Given the description of an element on the screen output the (x, y) to click on. 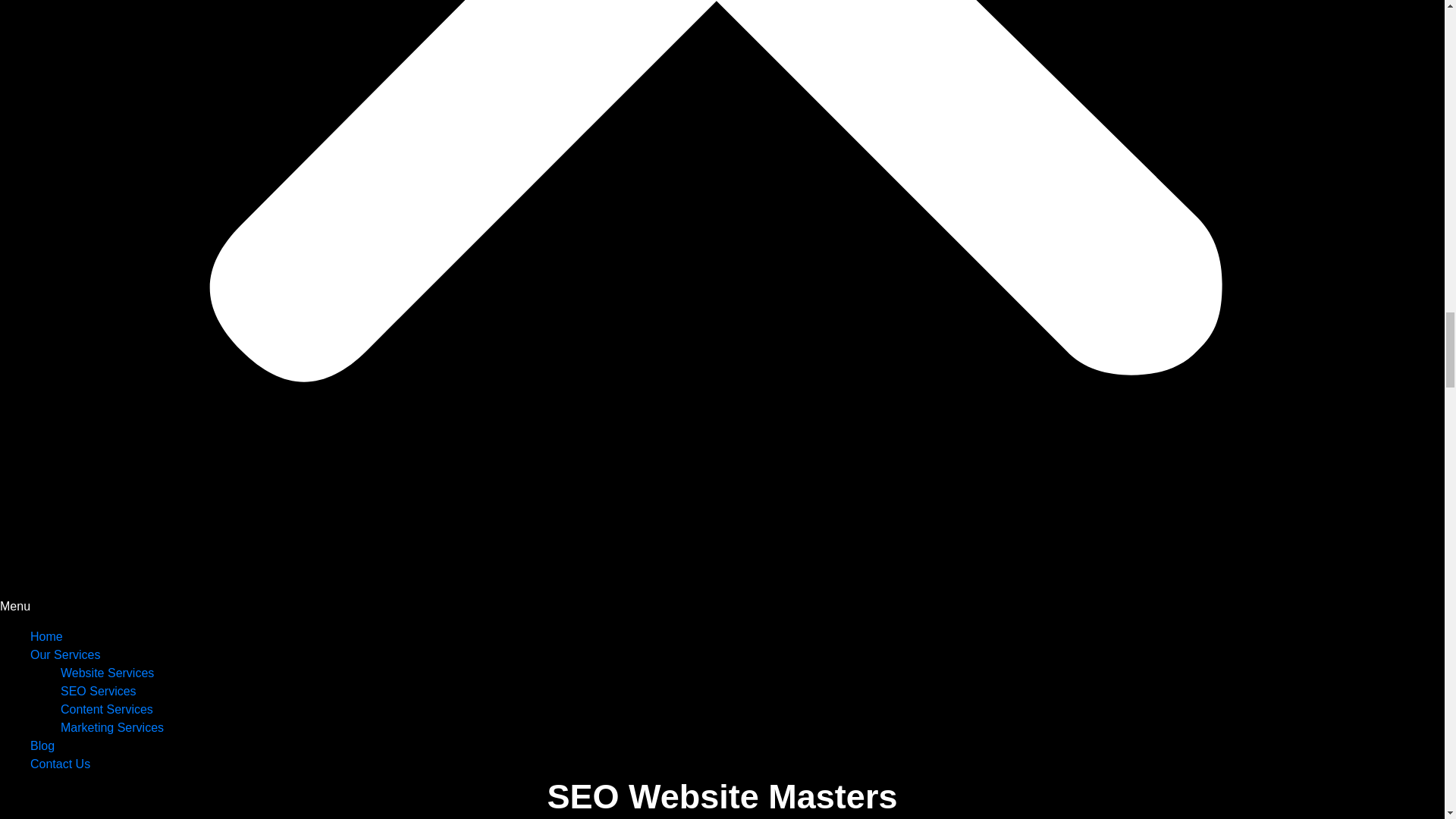
Content Services (106, 708)
Marketing Services (112, 727)
Contact Us (60, 763)
Our Services (65, 654)
Home (46, 635)
Website Services (107, 672)
SEO Services (98, 690)
Blog (42, 745)
SEO Website Masters (722, 796)
